Given the description of an element on the screen output the (x, y) to click on. 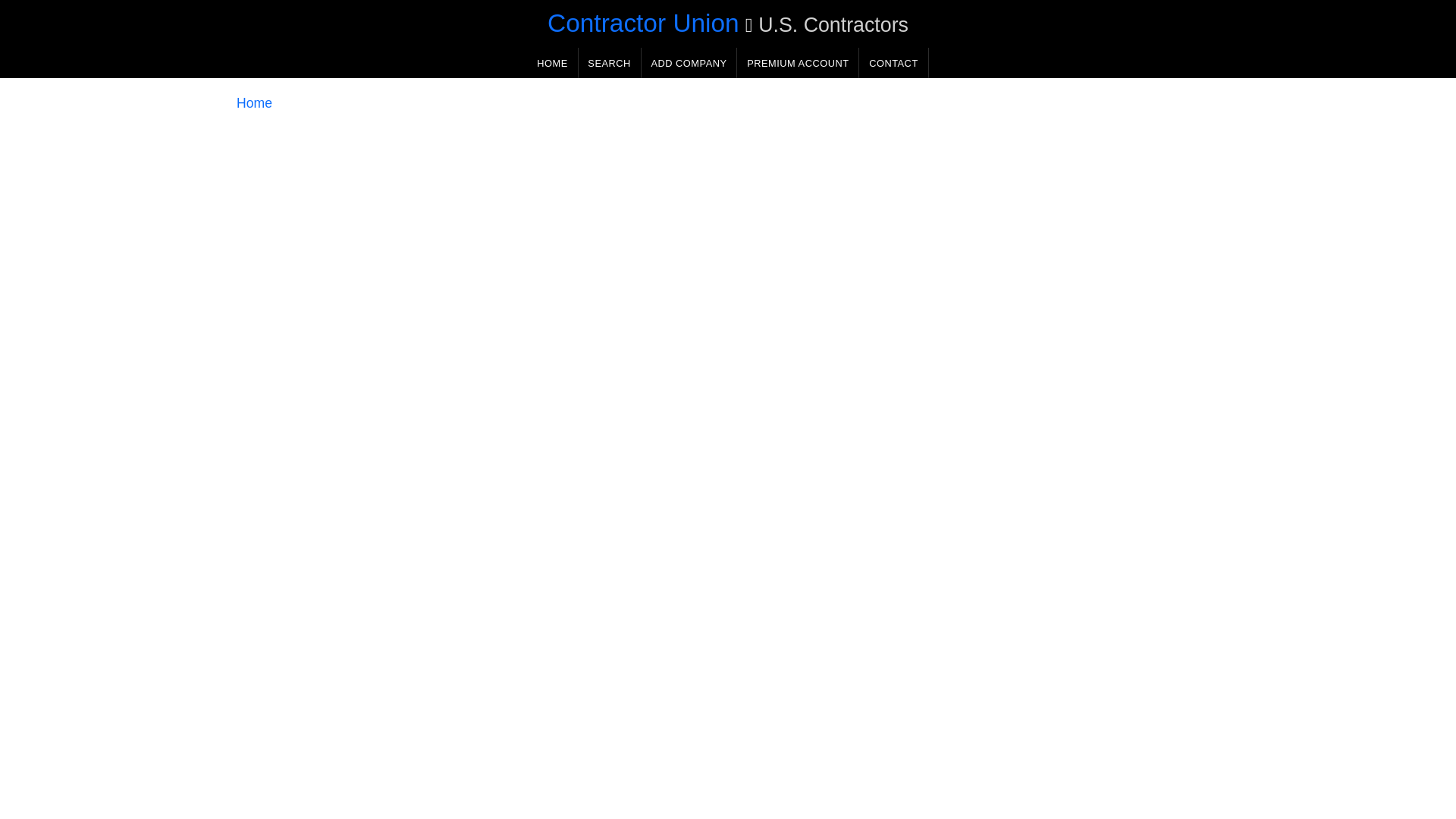
SEARCH (609, 62)
Contractor Union (643, 22)
Add a new company (689, 62)
HOME (551, 62)
Premium account (797, 62)
ADD COMPANY (689, 62)
CONTACT (893, 62)
Search in this webseite. (609, 62)
PREMIUM ACCOUNT (797, 62)
